Given the description of an element on the screen output the (x, y) to click on. 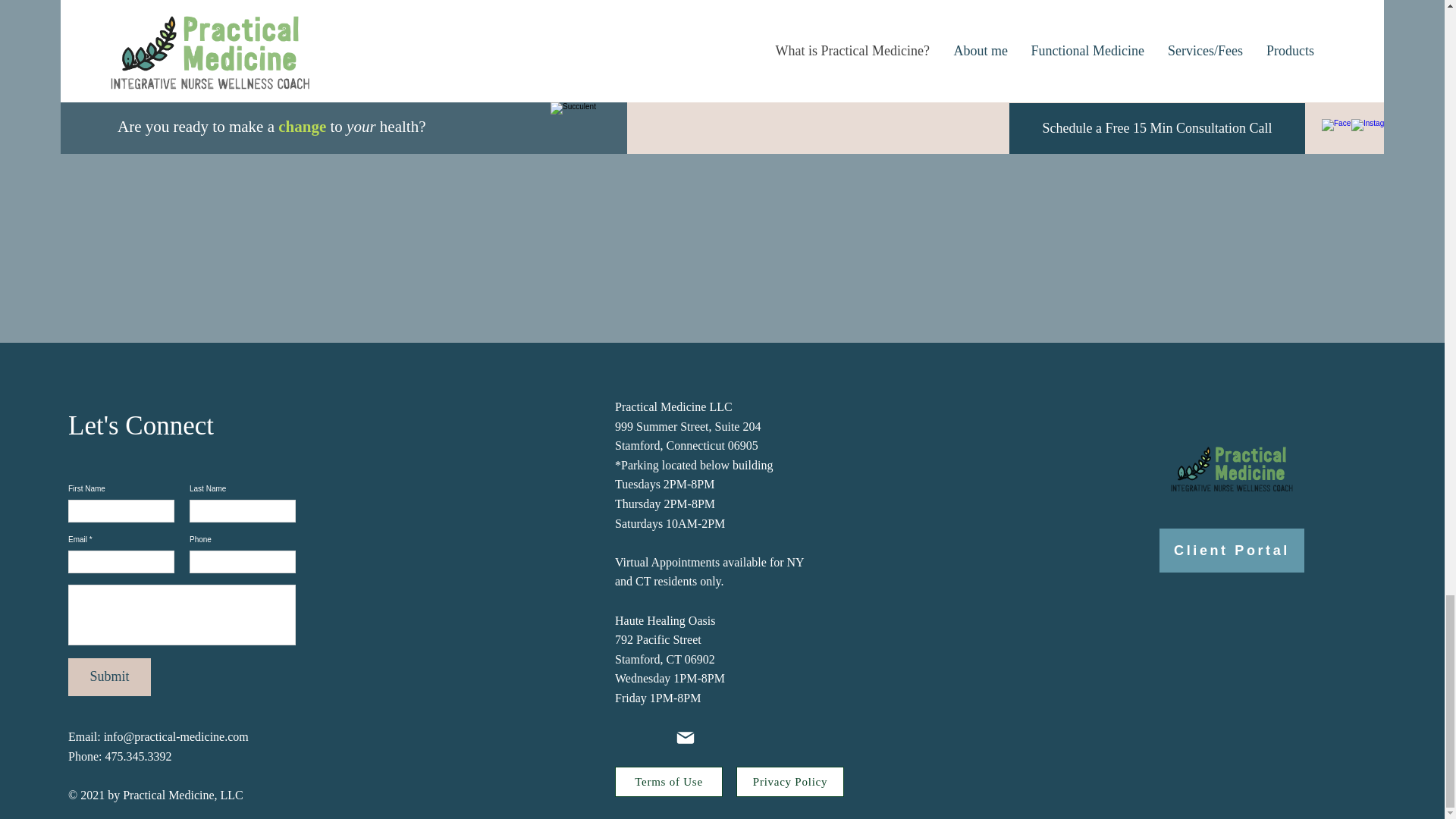
Client Portal (1231, 550)
Privacy Policy (790, 781)
Submit (109, 677)
Terms of Use (668, 781)
